Given the description of an element on the screen output the (x, y) to click on. 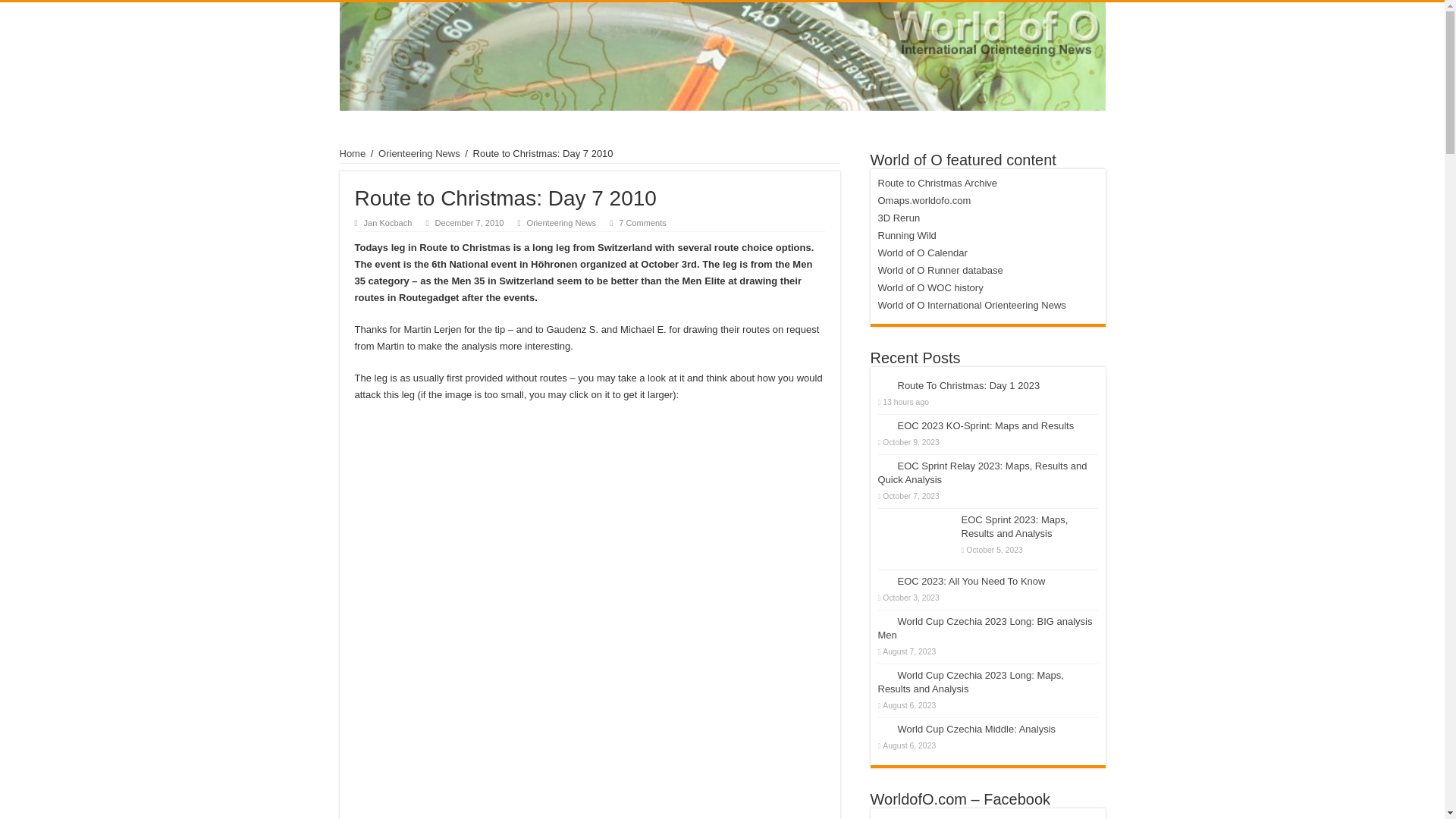
World of O News (722, 56)
Jan Kocbach (388, 222)
7 Comments (642, 222)
Home (352, 153)
Orienteering News (561, 222)
Orienteering News (419, 153)
